Given the description of an element on the screen output the (x, y) to click on. 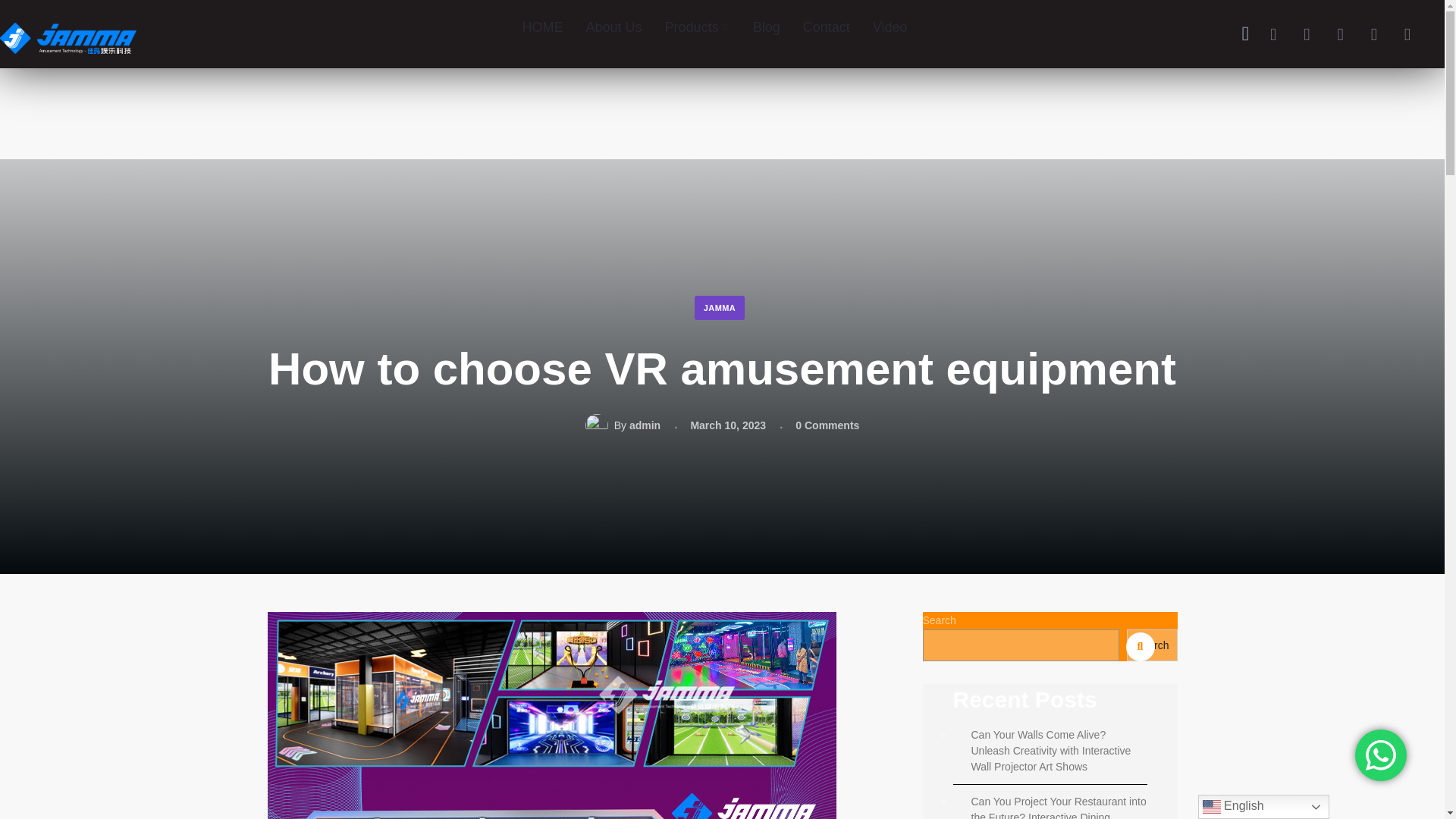
About Us (614, 27)
Jamma VR amusement equipment-VR game supplier (68, 27)
March 10, 2023 (727, 425)
HOME (543, 27)
JAMMA (719, 307)
Blog (766, 27)
0 Comments (826, 425)
Contact (826, 27)
Video (889, 27)
Products (697, 27)
Search (24, 8)
admin (644, 425)
